Given the description of an element on the screen output the (x, y) to click on. 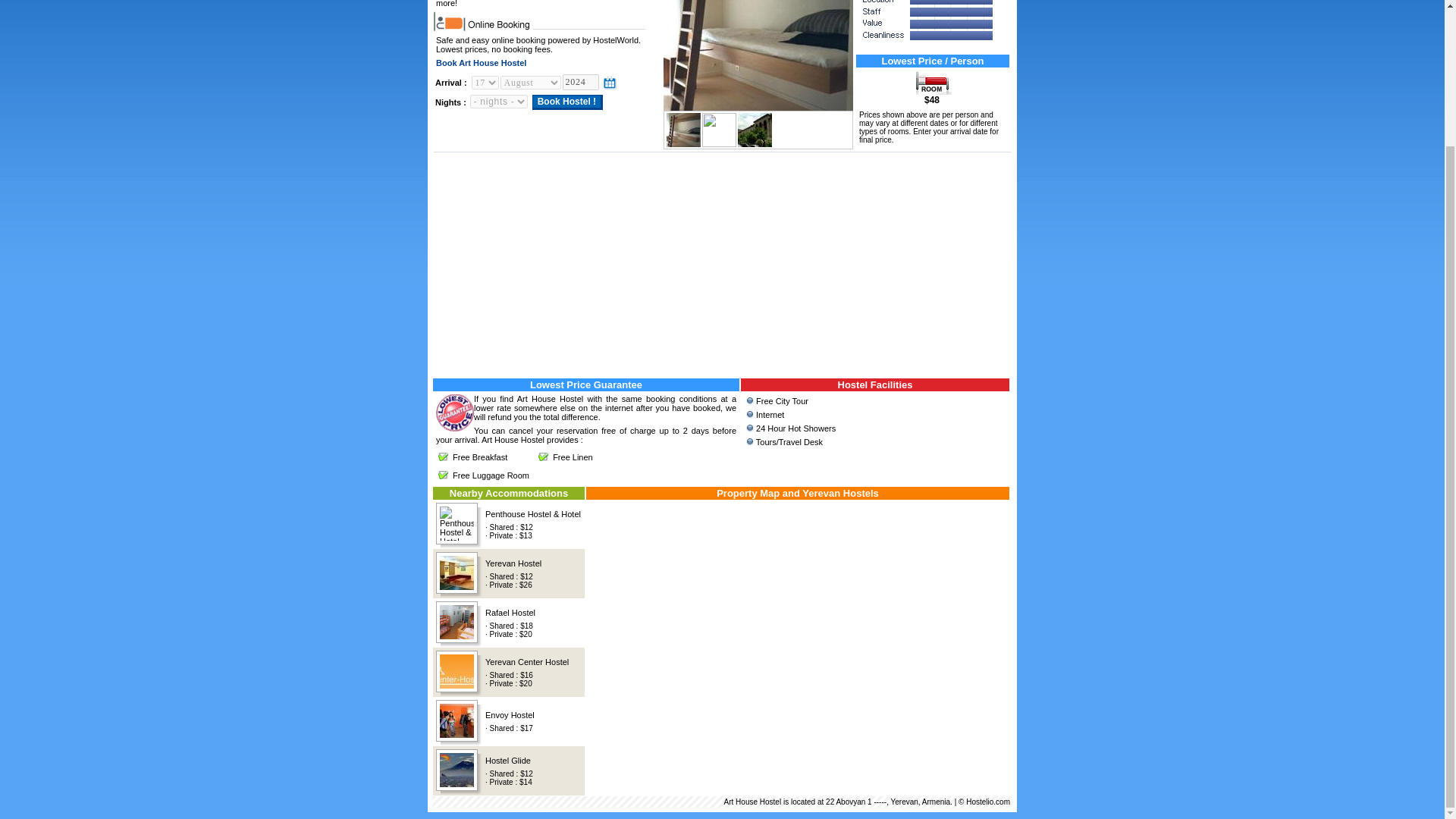
Rafael Hostel (509, 611)
Book Hostel ! (567, 102)
address (721, 801)
Yerevan Hostel (512, 563)
Envoy Hostel (509, 714)
Year (580, 82)
Yerevan Center Hostel (526, 661)
Hostel Glide (507, 759)
2024 (580, 82)
